Given the description of an element on the screen output the (x, y) to click on. 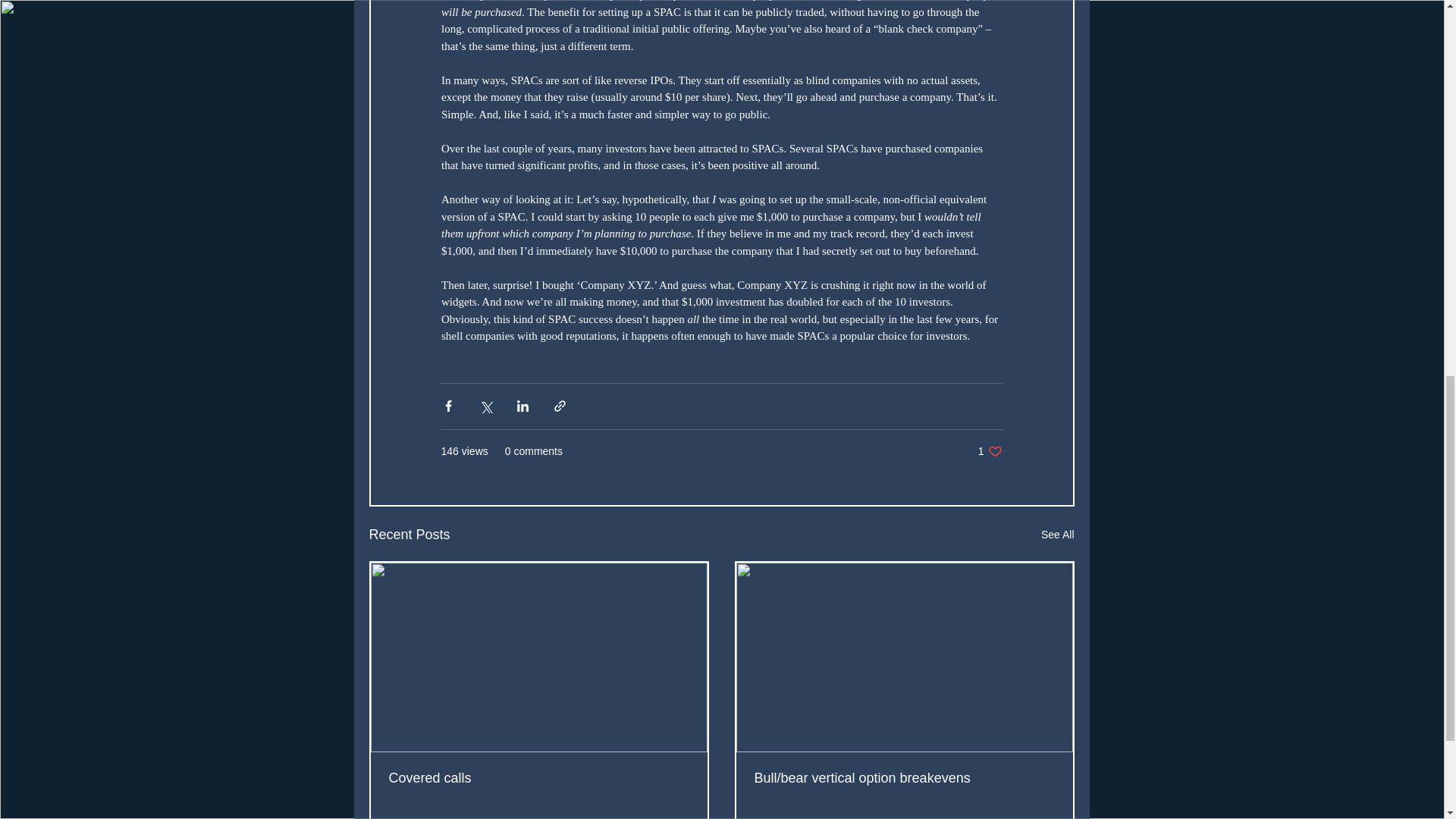
See All (1057, 535)
Covered calls (538, 778)
